Given the description of an element on the screen output the (x, y) to click on. 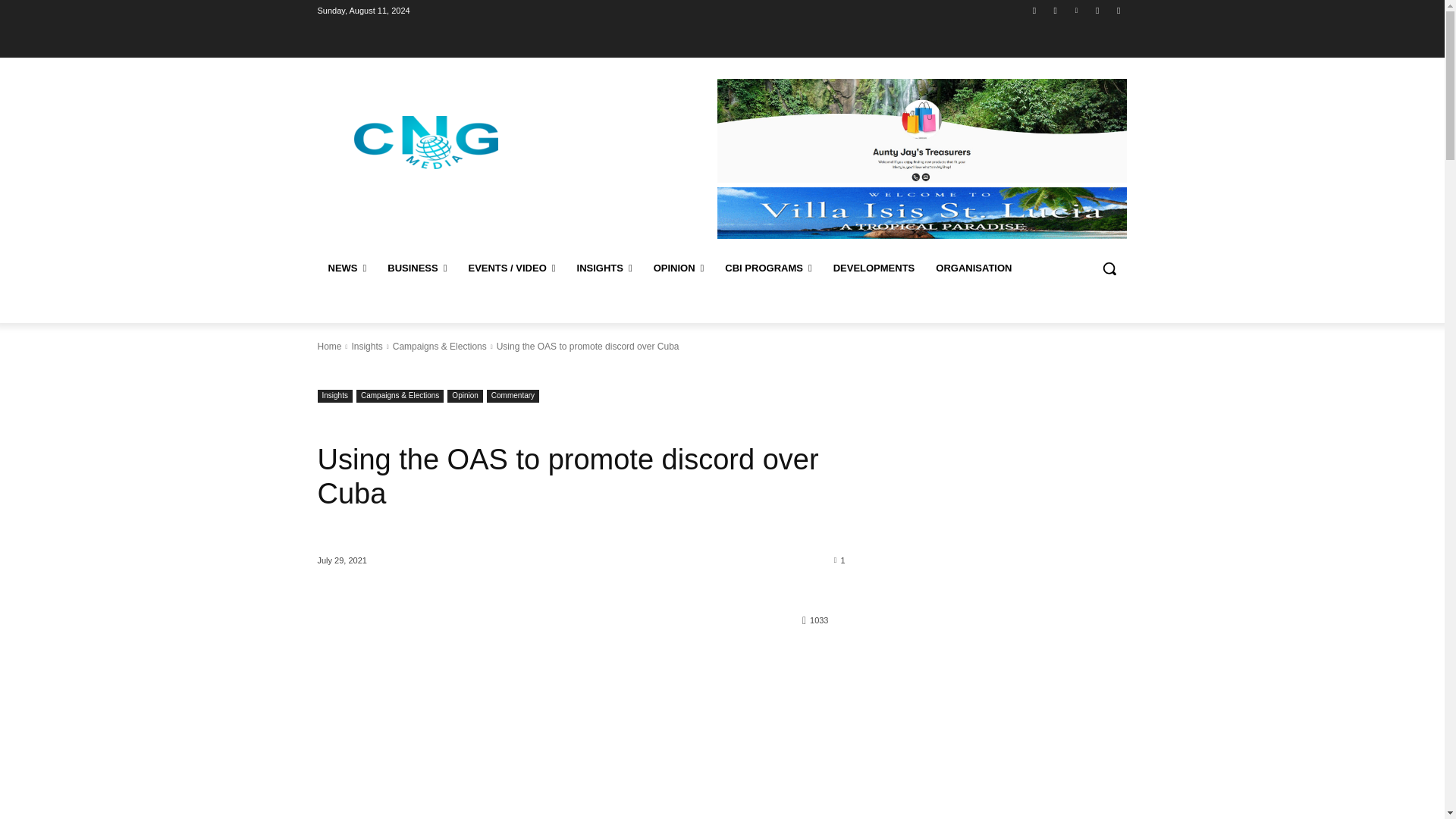
NEWS (347, 268)
Linkedin (1075, 9)
Youtube (1117, 9)
Twitter (1097, 9)
Facebook (1034, 9)
Instagram (1055, 9)
